Given the description of an element on the screen output the (x, y) to click on. 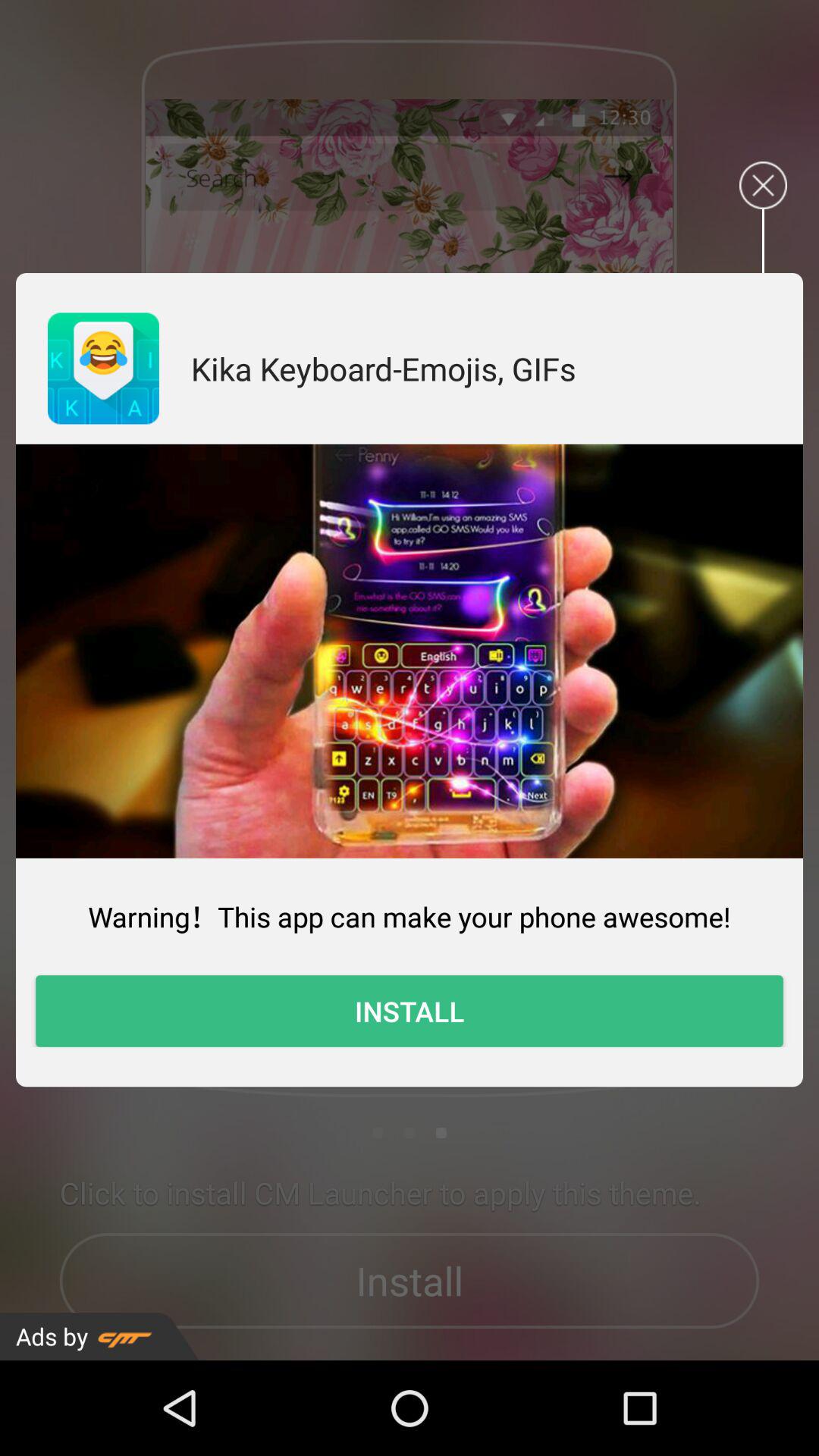
click picture (409, 651)
